Given the description of an element on the screen output the (x, y) to click on. 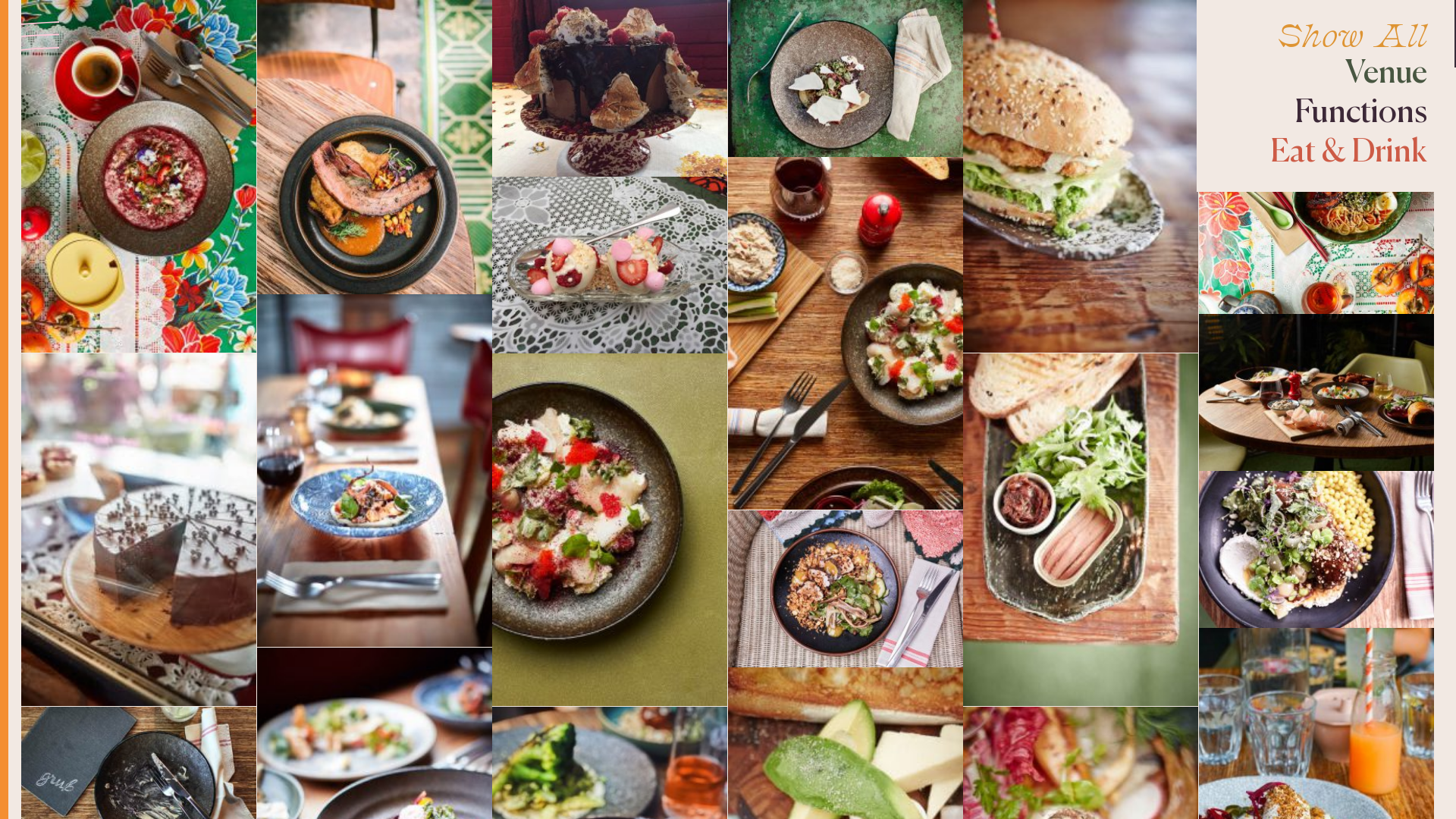
portrait_food_-148 Element type: hover (609, 529)
Venue Element type: text (1317, 74)
landscape_food_-85 Element type: hover (845, 78)
Functions Element type: text (1317, 113)
@crumbsofafoodie thick cut bacon and eggs Element type: hover (374, 147)
portrait_food_-104 Element type: hover (374, 470)
landscape_food_-34 Element type: hover (609, 264)
Eat & Drink Element type: text (1317, 152)
portrait_food_-140 Element type: hover (138, 176)
landscape_food_-36 Element type: hover (609, 88)
@kellimorris Sweet Set 2018 Element type: hover (1316, 78)
landscape_food_-71 Element type: hover (845, 588)
portrait_food_-13 Element type: hover (1080, 529)
landscape_food_-66 Element type: hover (1316, 548)
img-4 Element type: hover (138, 529)
portrait_food_-12 Element type: hover (1080, 176)
portrait_food_-146 Element type: hover (845, 332)
landscape_food_-108 Element type: hover (1316, 391)
landscape_food_-99 Element type: hover (1316, 234)
Show All Element type: text (1317, 34)
